Given the description of an element on the screen output the (x, y) to click on. 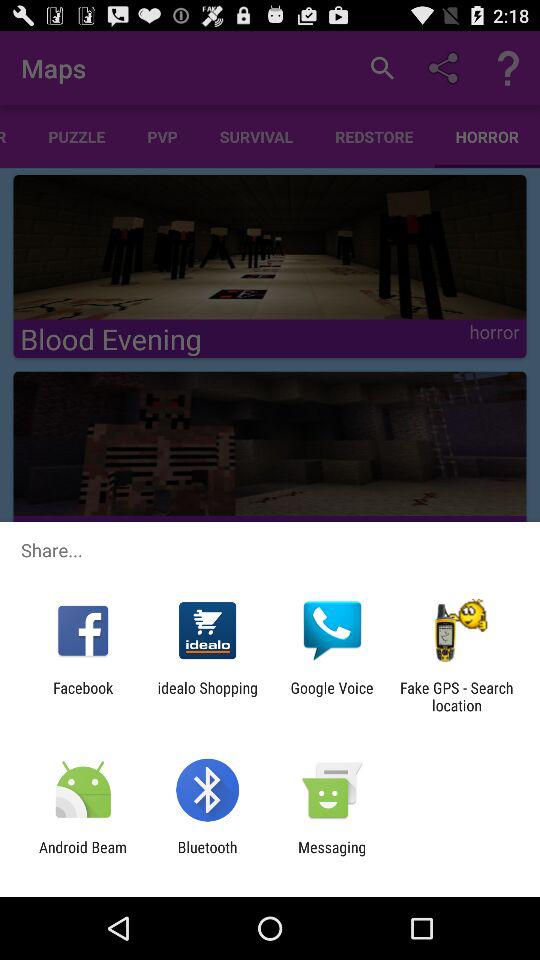
flip until android beam item (83, 856)
